Given the description of an element on the screen output the (x, y) to click on. 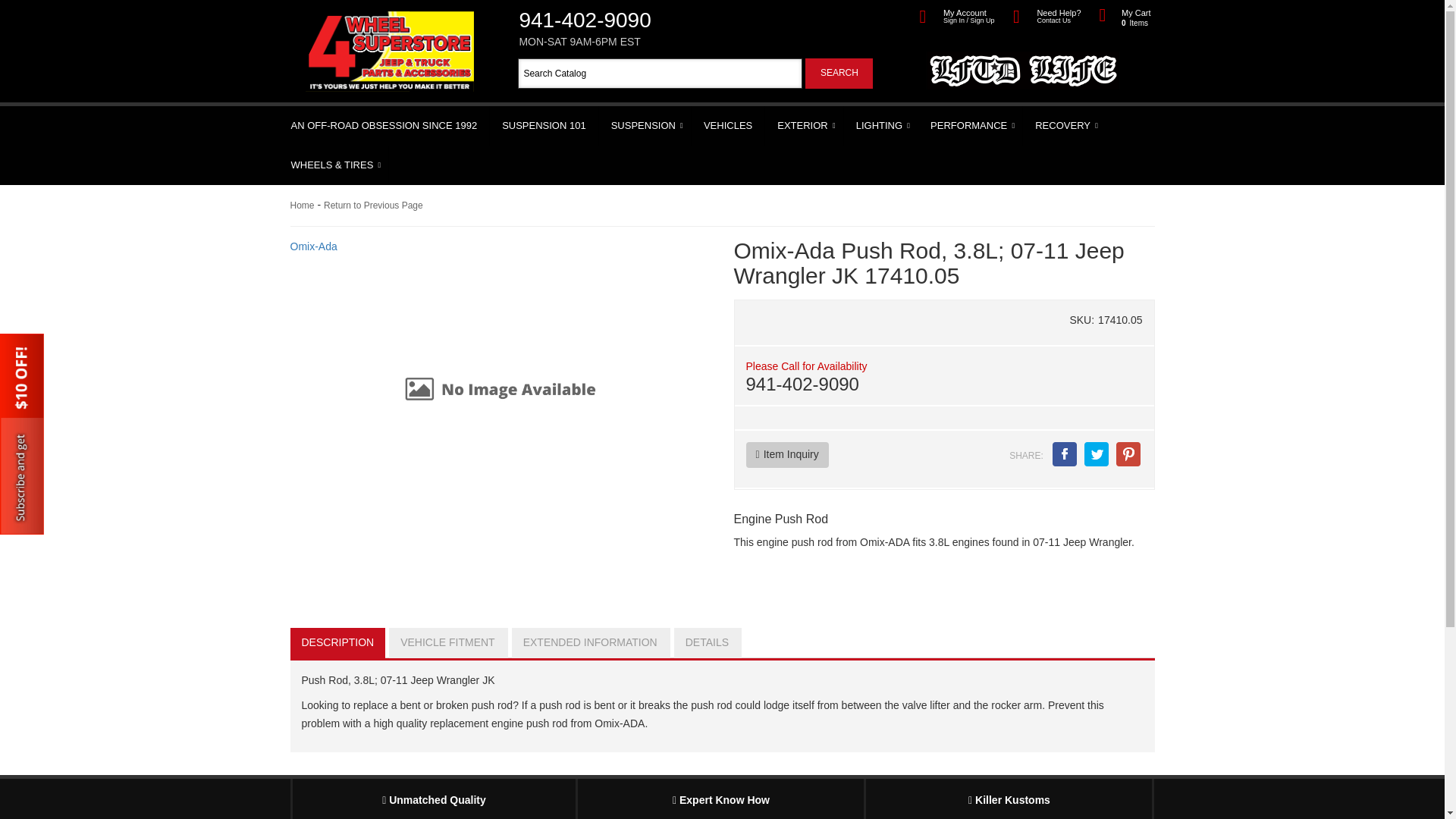
4 Wheel Super Store Homepage (389, 26)
LIGHTING (881, 125)
call us (631, 24)
Exterior (804, 125)
AN OFF-ROAD OBSESSION SINCE 1992 (631, 24)
VEHICLES (384, 125)
Search Catalog (728, 125)
Search (660, 73)
SUSPENSION (838, 73)
